Given the description of an element on the screen output the (x, y) to click on. 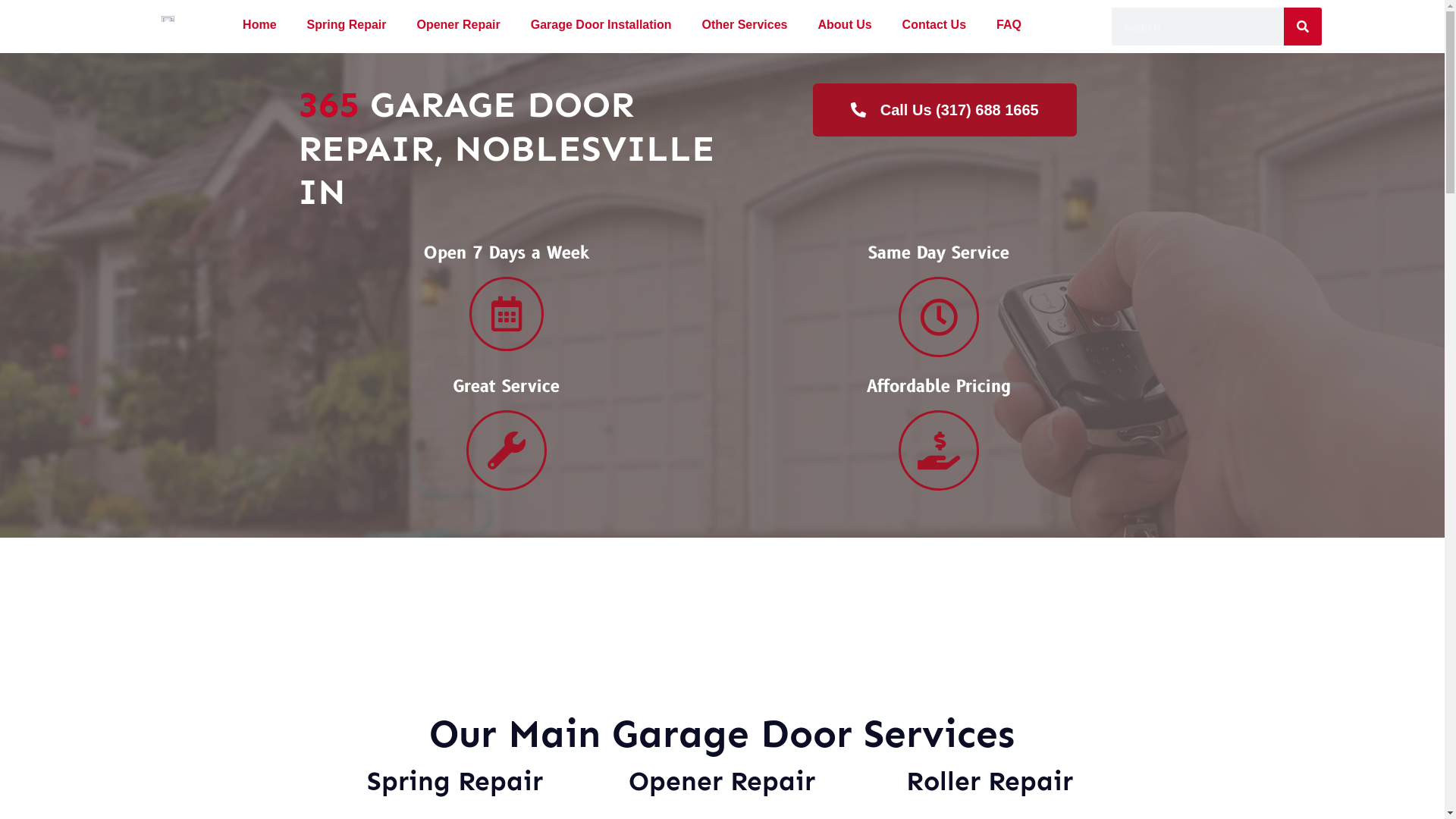
Home Element type: text (259, 24)
FAQ Element type: text (1008, 24)
About Us Element type: text (844, 24)
Garage Door Installation Element type: text (601, 24)
Call Us (317) 688 1665 Element type: text (944, 109)
Contact Us Element type: text (934, 24)
Spring Repair Element type: text (346, 24)
Other Services Element type: text (745, 24)
Opener Repair Element type: text (457, 24)
